Given the description of an element on the screen output the (x, y) to click on. 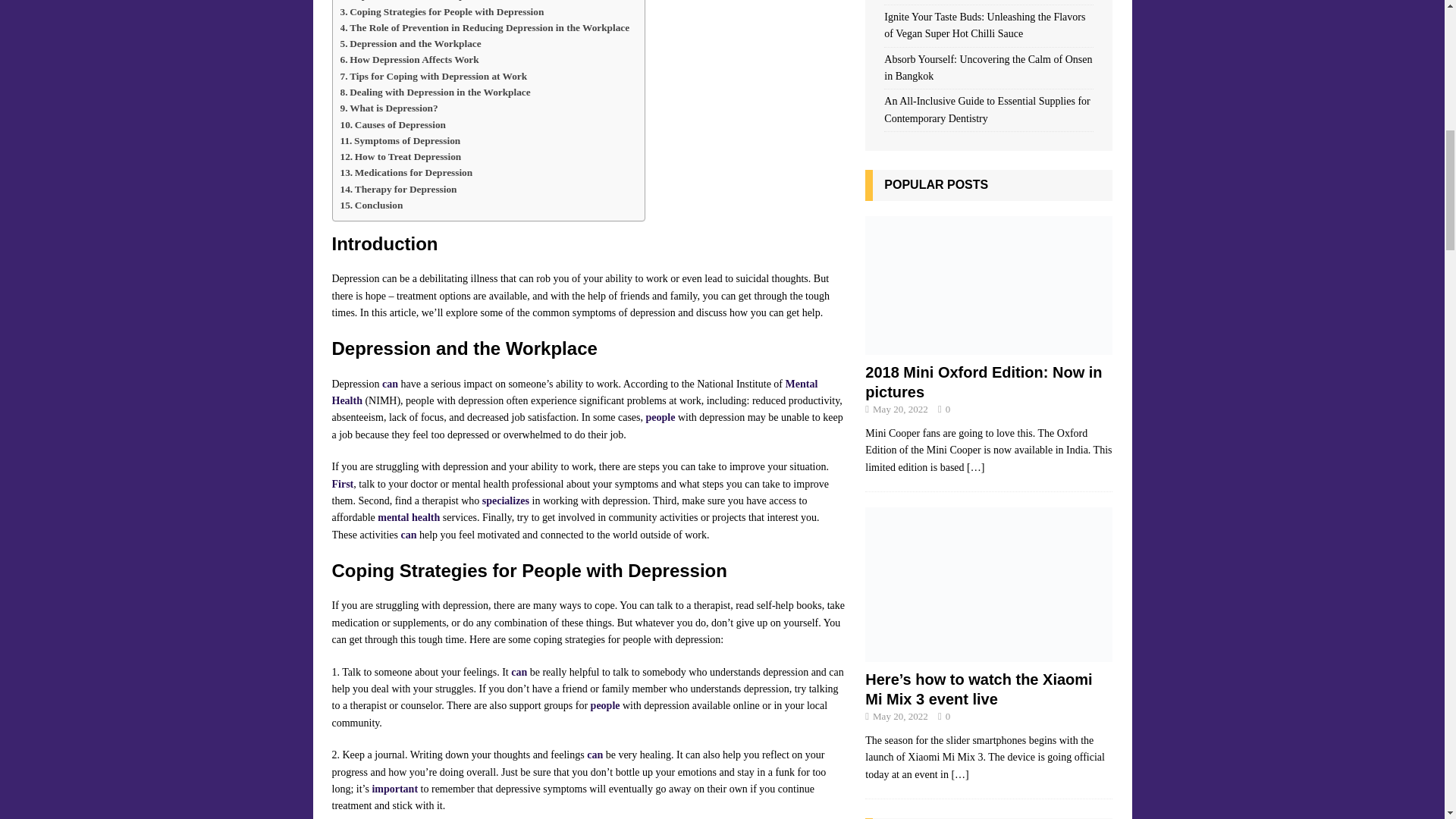
Therapy for Depression (398, 188)
people (605, 705)
can (389, 383)
How Depression Affects Work (409, 59)
What is Depression? (388, 107)
Causes of Depression (392, 124)
mental health (408, 517)
can (408, 534)
Depression and the Workplace (409, 1)
Coping Strategies for People with Depression (441, 11)
Dealing with Depression in the Workplace (434, 91)
Depression and the Workplace (409, 43)
can (519, 672)
people (660, 417)
Therapy for Depression (398, 188)
